Given the description of an element on the screen output the (x, y) to click on. 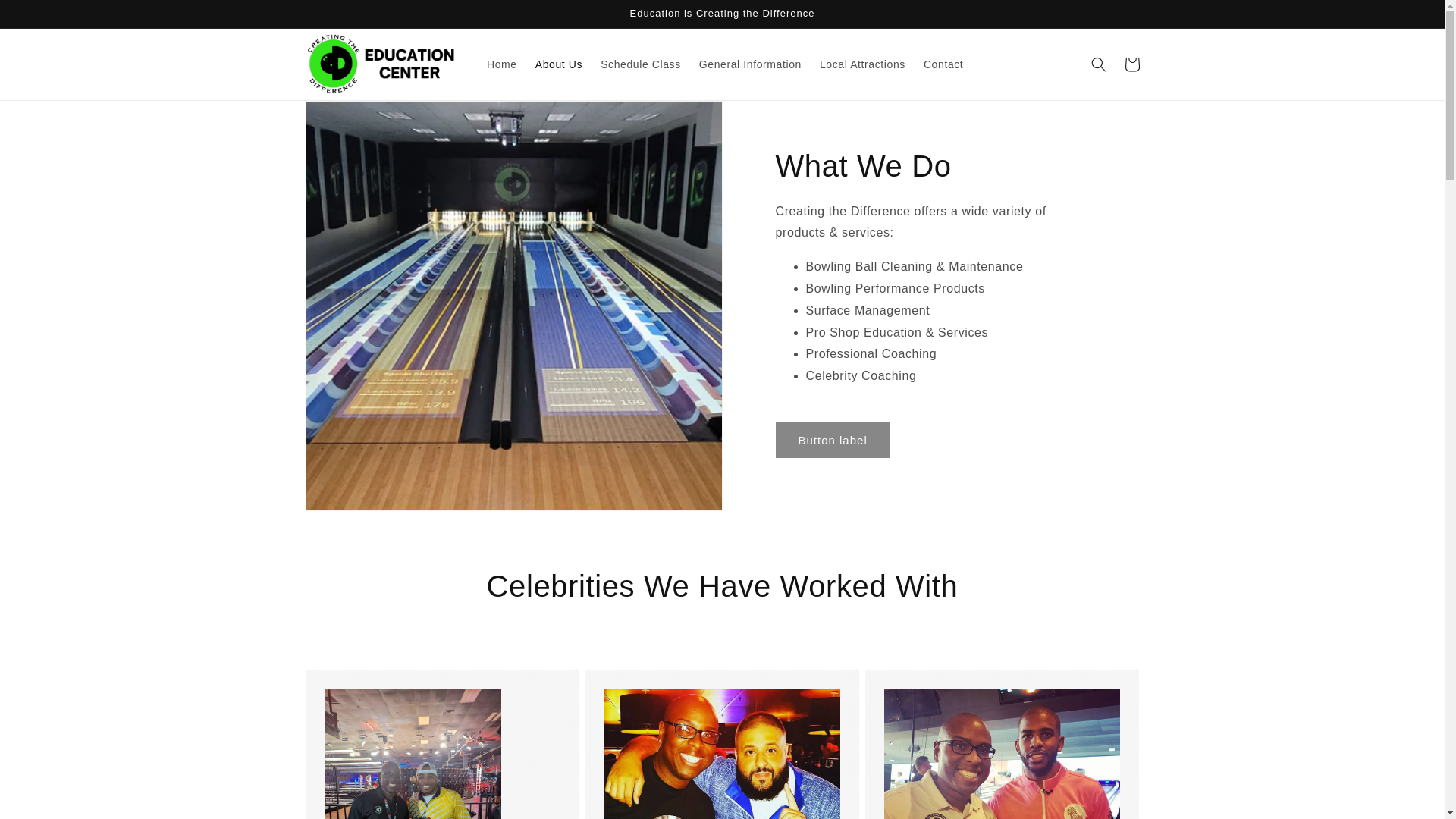
Contact (943, 64)
Button label (831, 439)
About Us (558, 64)
General Information (750, 64)
Home (501, 64)
Schedule Class (640, 64)
Local Attractions (862, 64)
Skip to content (45, 17)
Cart (1131, 64)
